Given the description of an element on the screen output the (x, y) to click on. 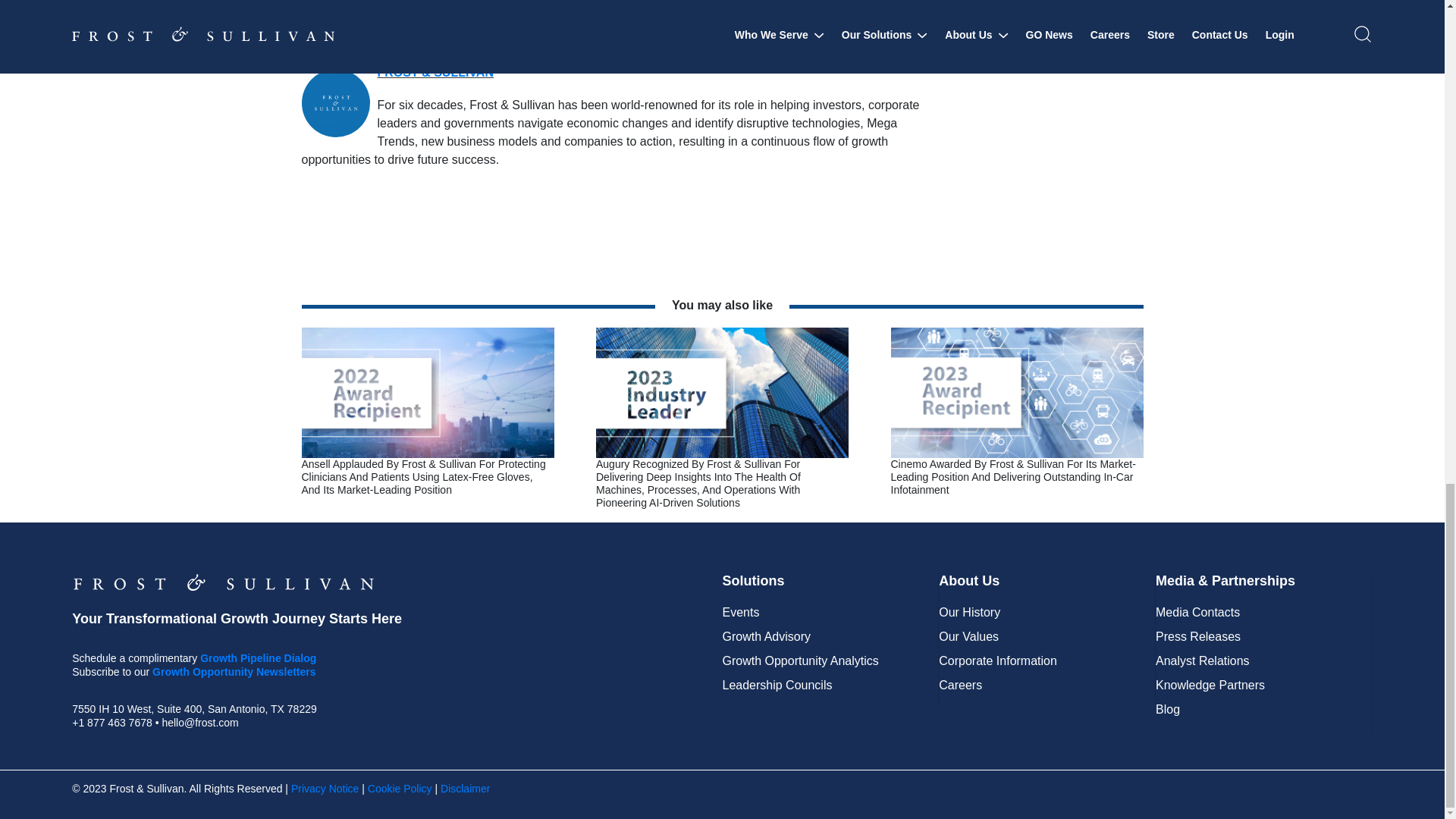
frostsullivanlogo (223, 581)
